Given the description of an element on the screen output the (x, y) to click on. 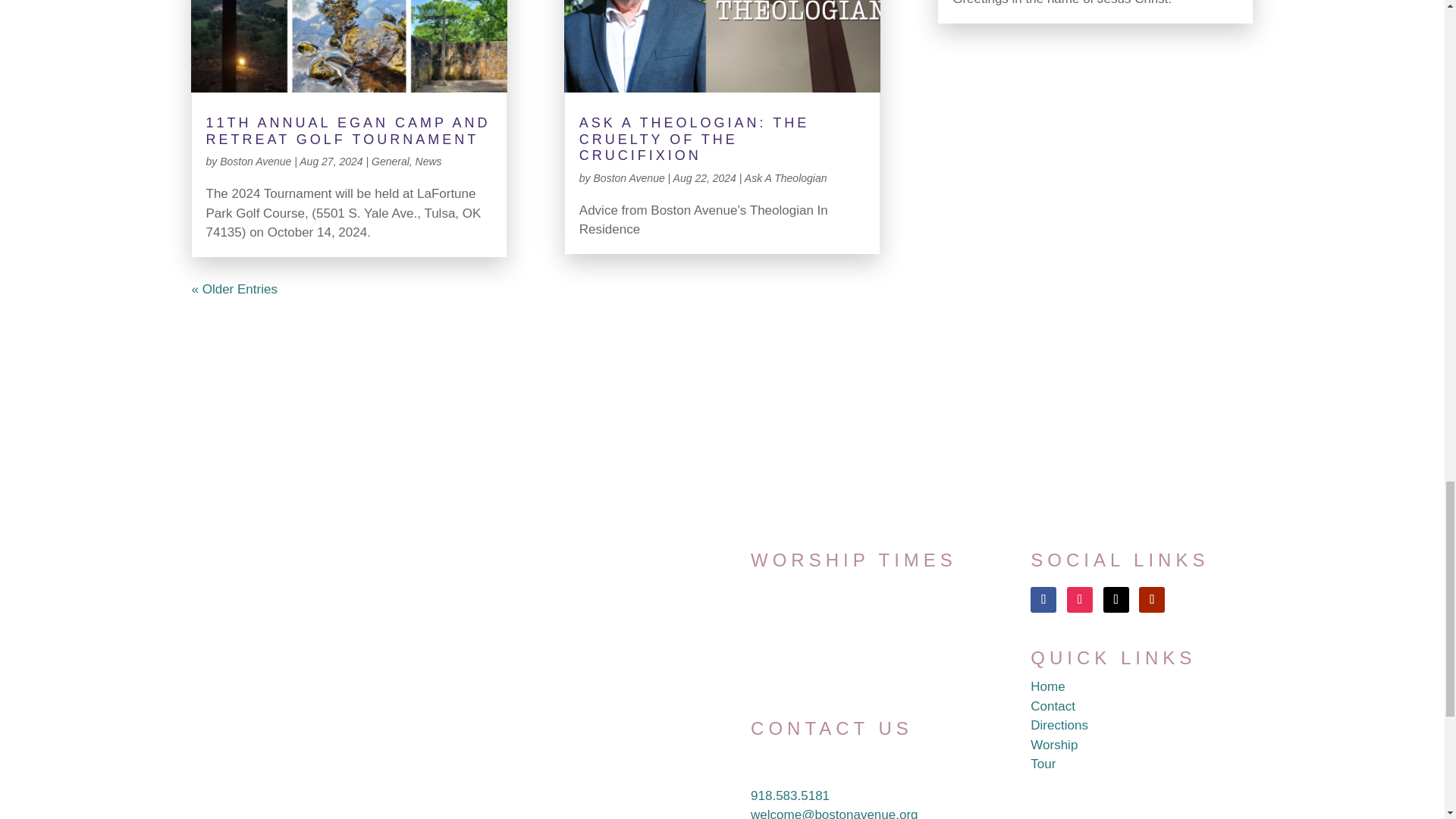
Posts by Boston Avenue (255, 161)
Posts by Boston Avenue (629, 177)
Follow on Facebook (1043, 599)
Follow on Youtube (1151, 599)
Follow on Instagram (1080, 599)
Follow on X (1116, 599)
